Given the description of an element on the screen output the (x, y) to click on. 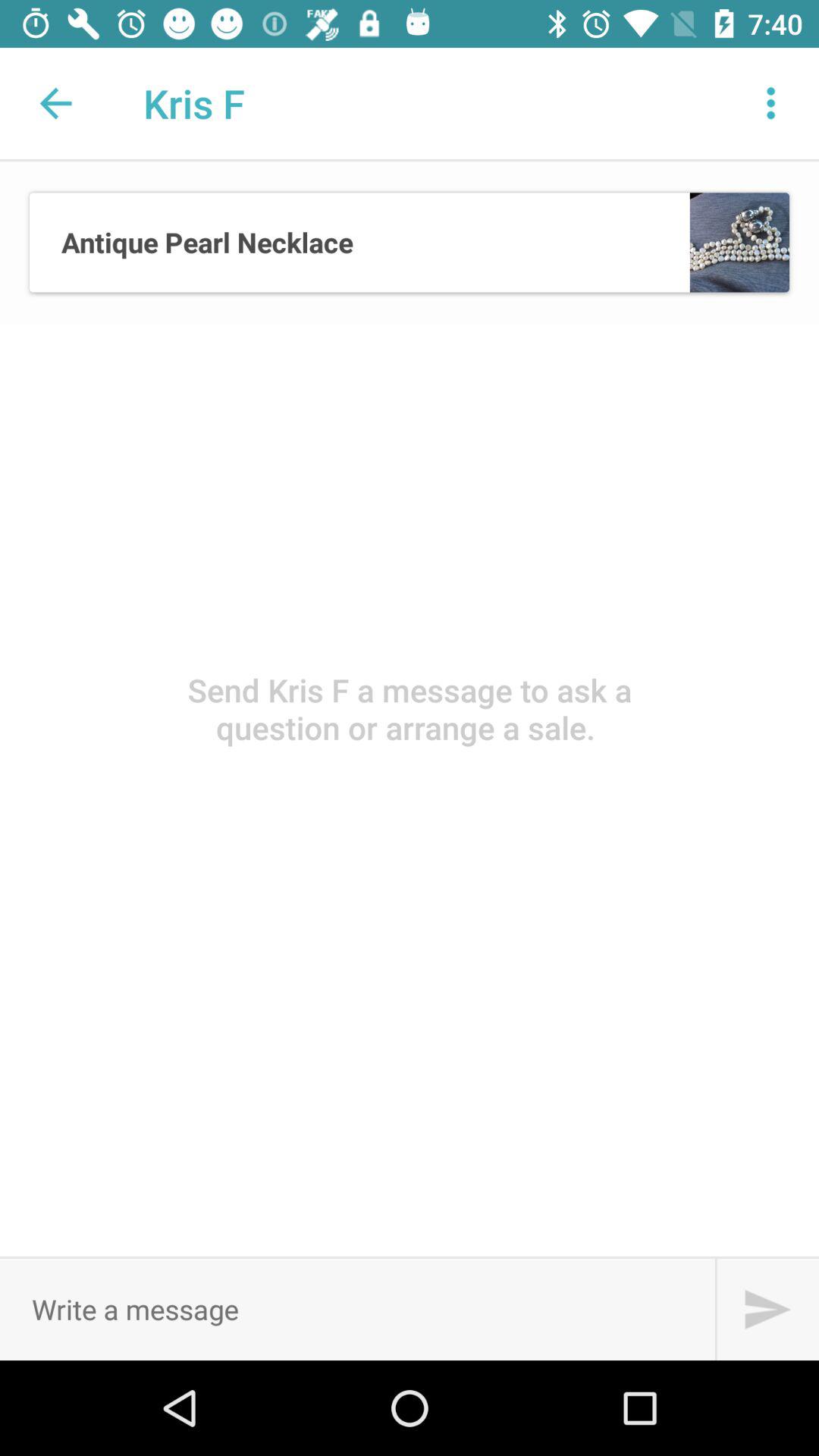
type message (357, 1308)
